Given the description of an element on the screen output the (x, y) to click on. 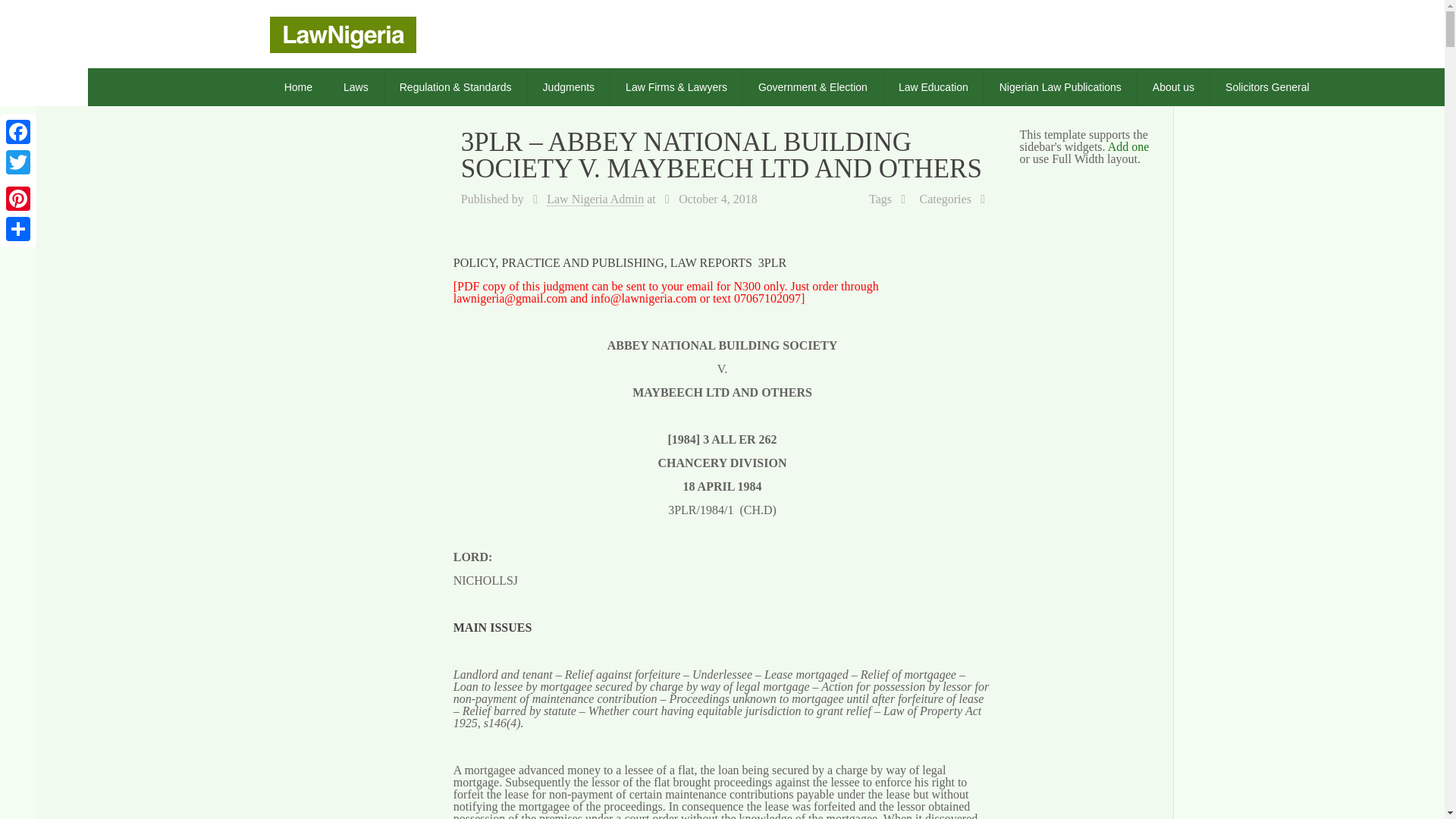
Judgments (568, 86)
Law Education (933, 86)
Laws (356, 86)
Home (299, 86)
Judgements (343, 33)
